Given the description of an element on the screen output the (x, y) to click on. 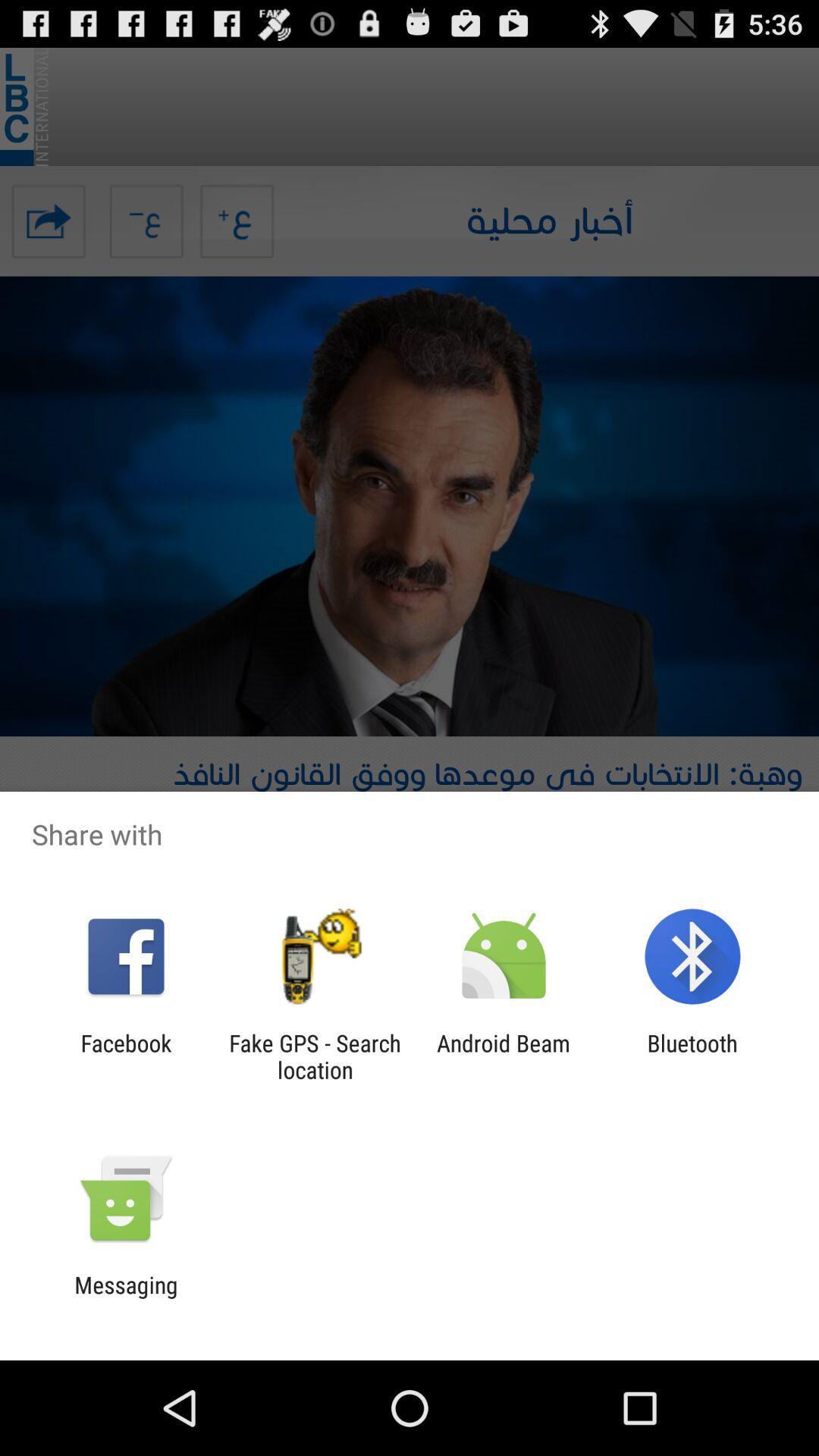
scroll until the facebook icon (125, 1056)
